Given the description of an element on the screen output the (x, y) to click on. 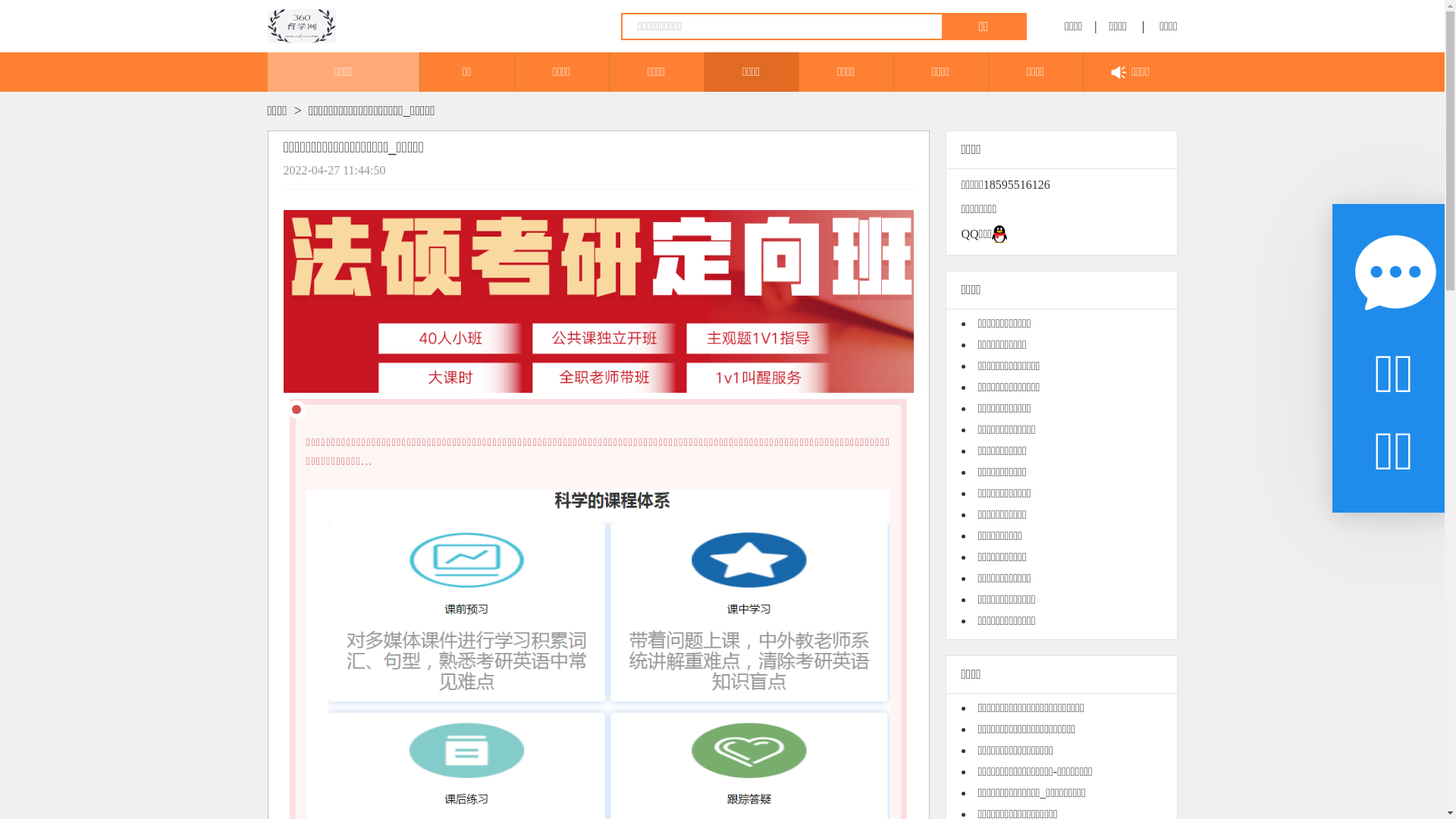
1651031006806397.png Element type: hover (598, 301)
